Given the description of an element on the screen output the (x, y) to click on. 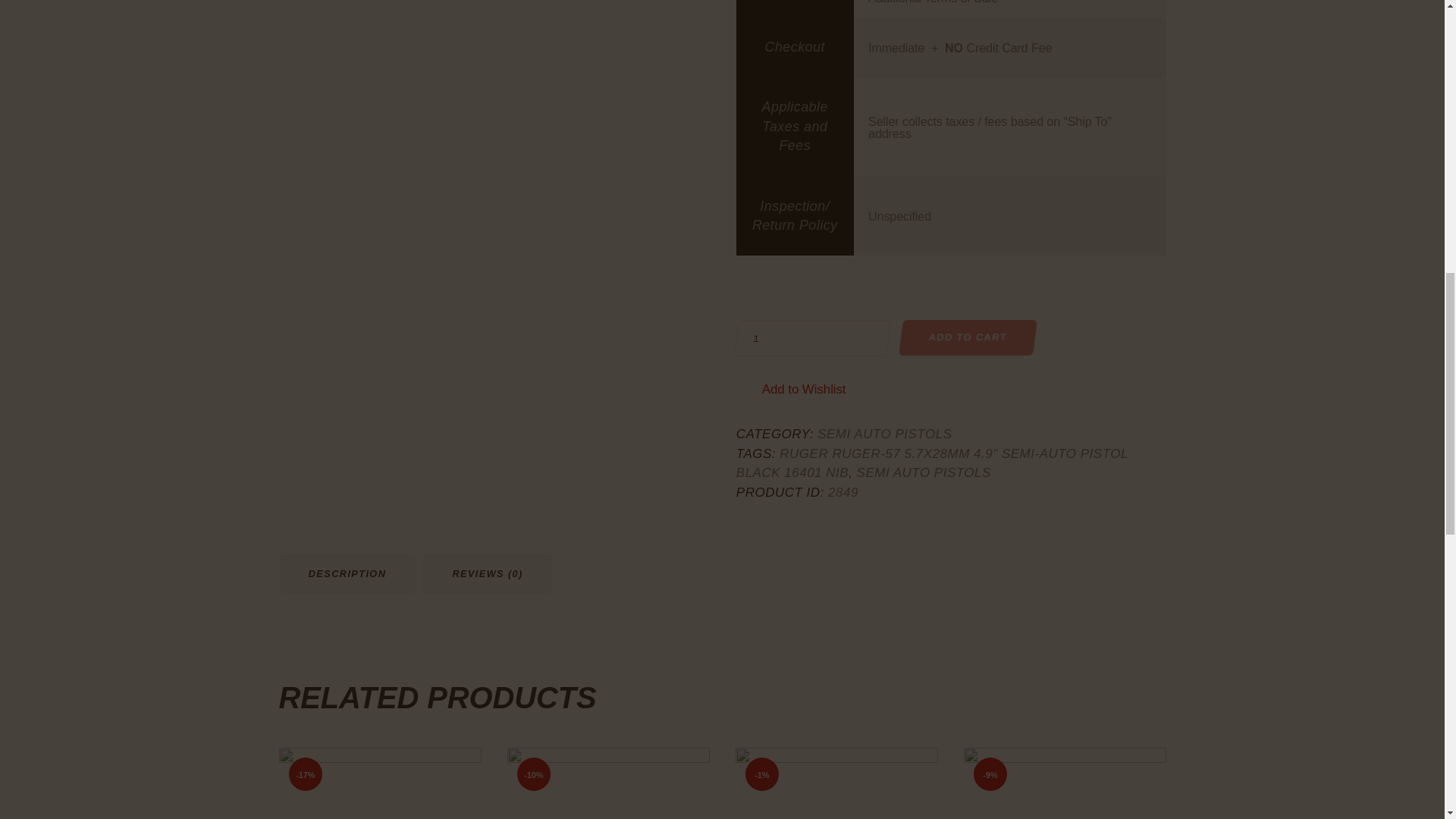
ADD TO CART (966, 337)
SEMI AUTO PISTOLS (924, 472)
Add to Wishlist (804, 388)
DESCRIPTION (346, 573)
SEMI AUTO PISTOLS (884, 433)
1 (809, 338)
